Given the description of an element on the screen output the (x, y) to click on. 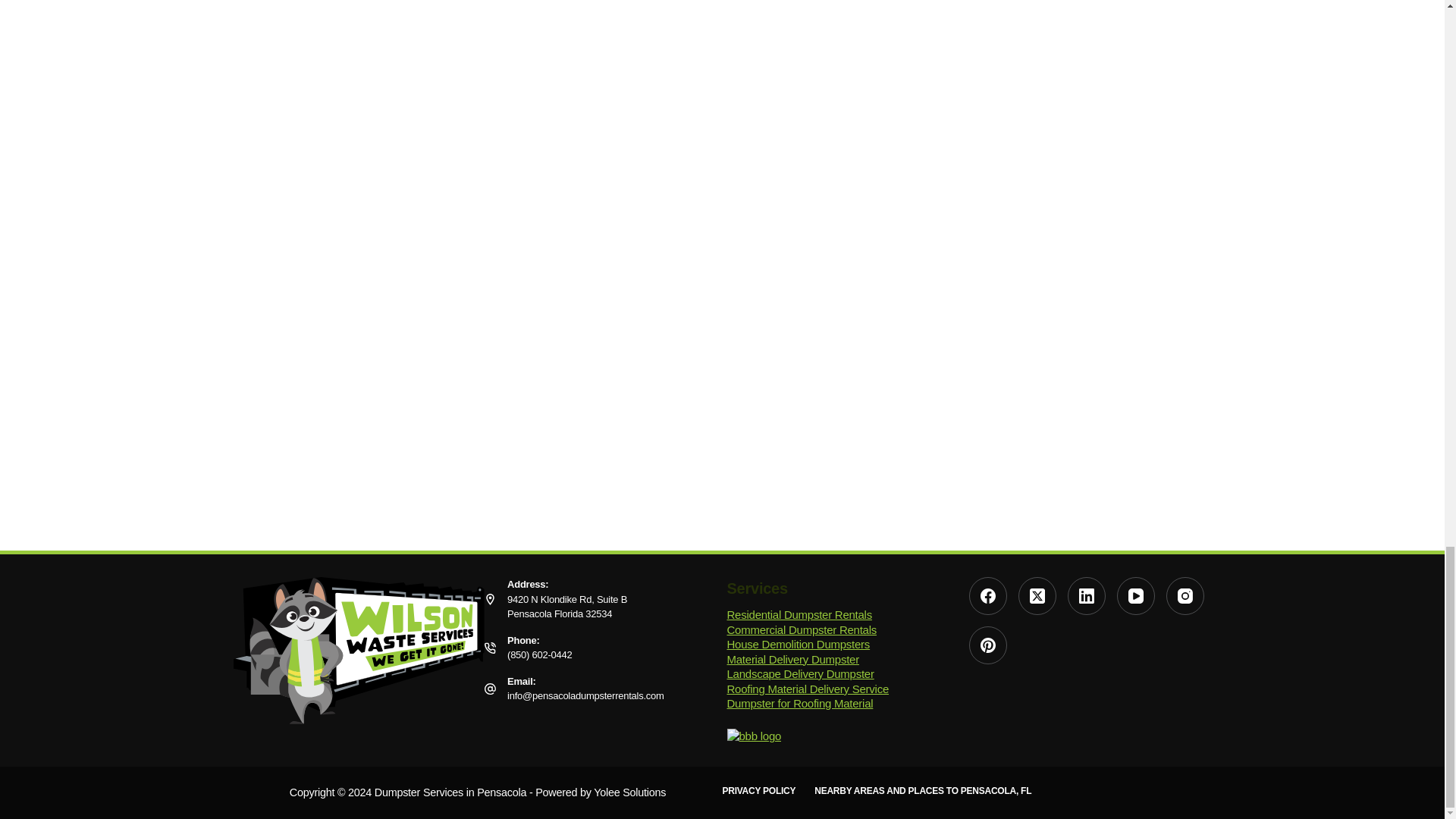
Landscape Delivery Dumpster (800, 673)
Commercial Dumpster Rentals (801, 629)
Material Delivery Dumpster (792, 658)
Residential Dumpster Rentals (799, 614)
House Demolition Dumpsters (798, 644)
